Given the description of an element on the screen output the (x, y) to click on. 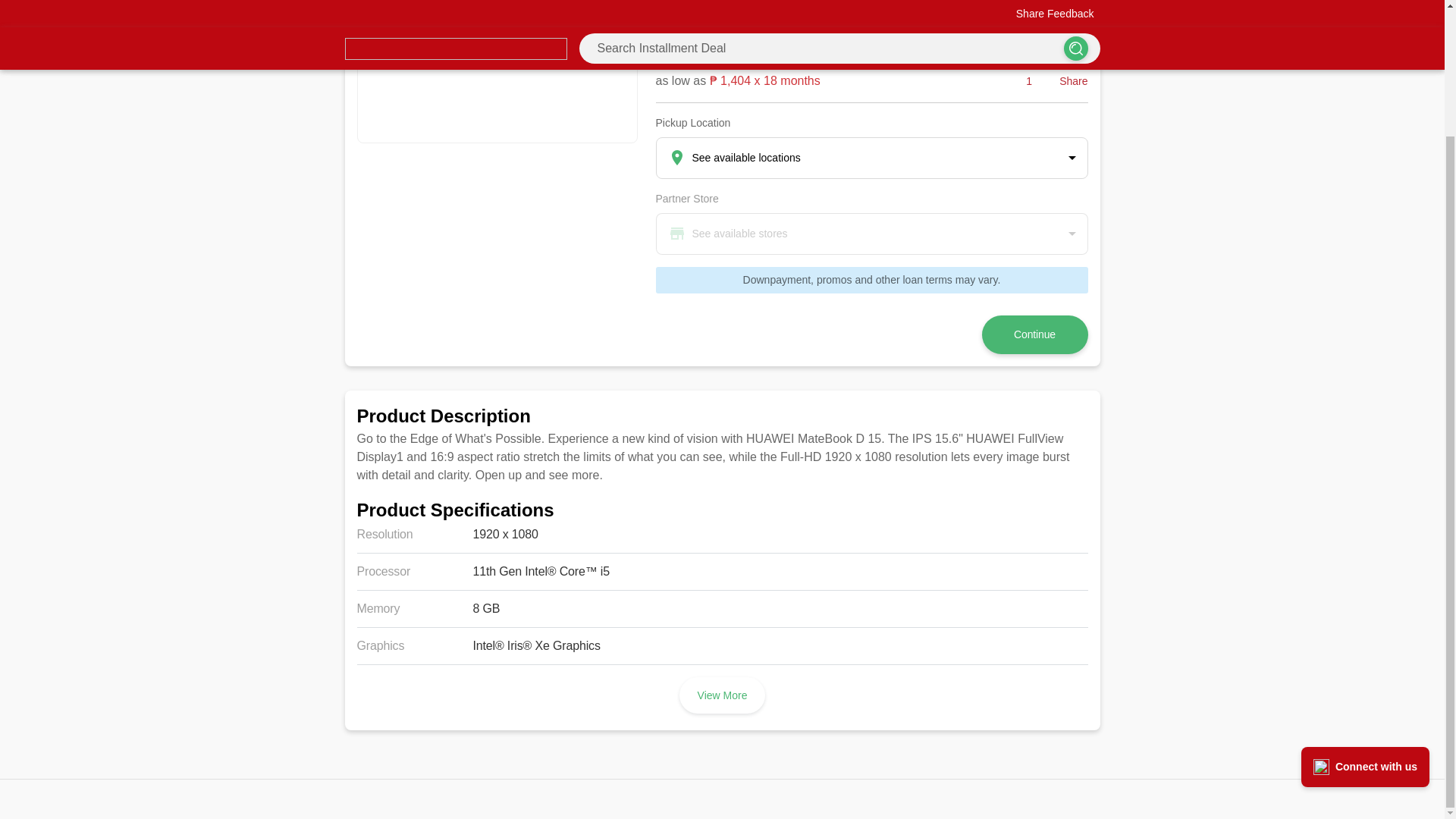
Share (1064, 80)
Continue (1034, 334)
View More (722, 695)
